Given the description of an element on the screen output the (x, y) to click on. 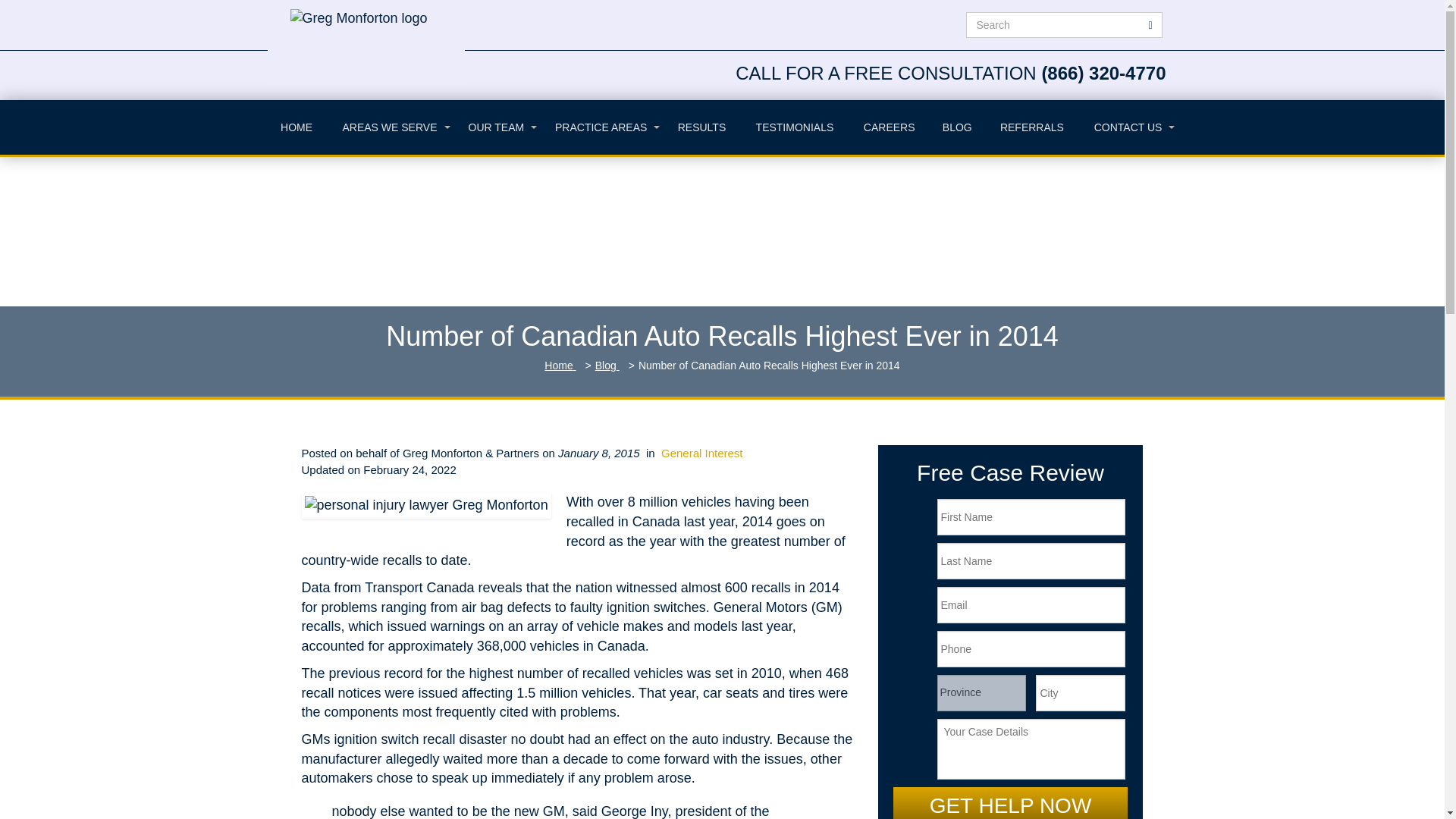
PRACTICE AREAS (600, 126)
HOME (295, 126)
OUR TEAM (495, 126)
Get Help Now (1010, 803)
AREAS WE SERVE (390, 126)
